Given the description of an element on the screen output the (x, y) to click on. 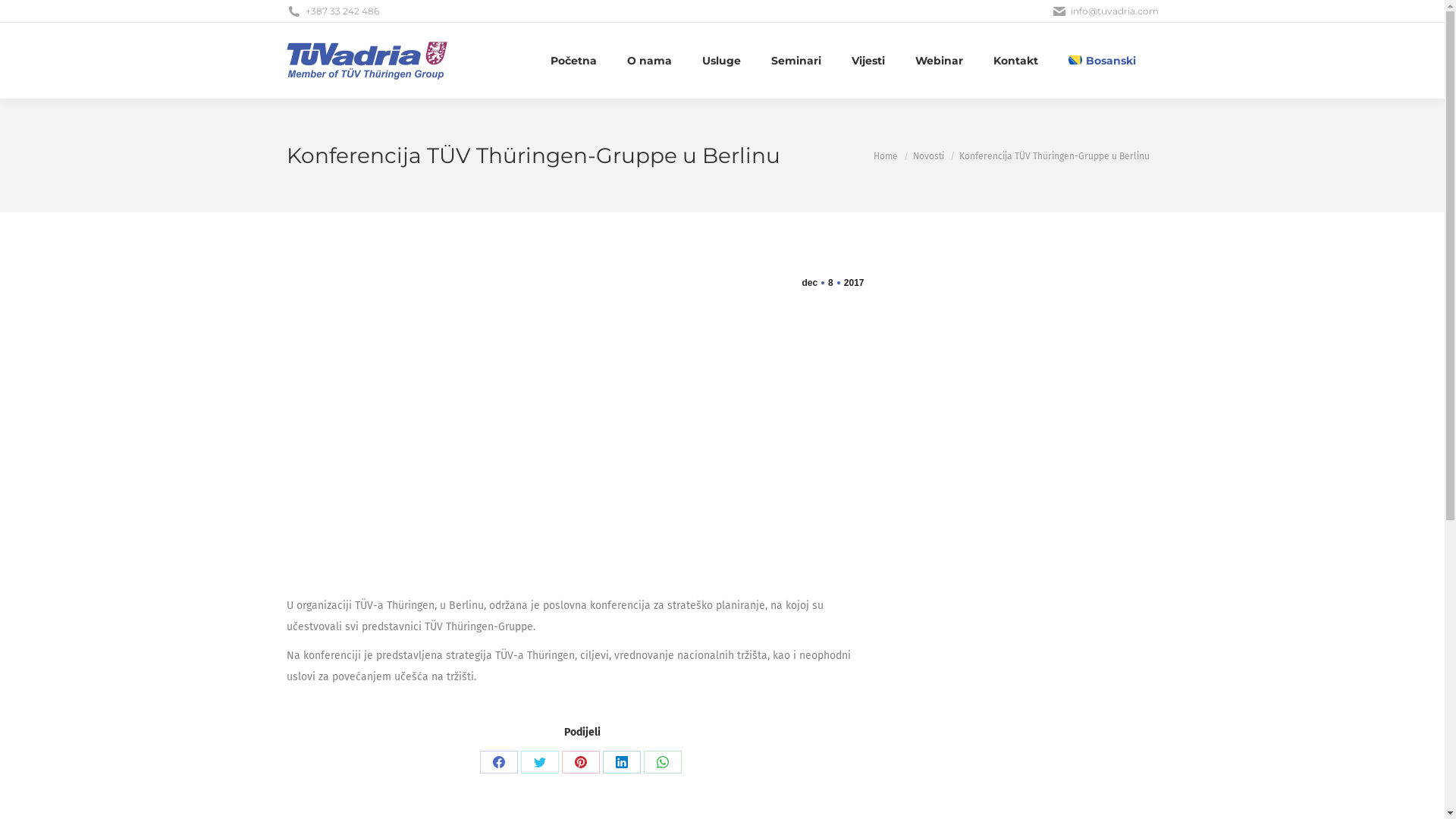
Share on WhatsApp Element type: text (661, 761)
Bosanski Element type: hover (1075, 59)
Share on LinkedIn Element type: text (621, 761)
Share on Facebook Element type: text (498, 761)
Home Element type: text (885, 155)
Go! Element type: text (23, 15)
Novosti Element type: text (928, 155)
Vijesti Element type: text (867, 60)
Kontakt Element type: text (1015, 60)
Webinar Element type: text (939, 60)
O nama Element type: text (649, 60)
Seminari Element type: text (796, 60)
dec
8
2017 Element type: text (831, 282)
Usluge Element type: text (721, 60)
Share on Twitter Element type: text (539, 761)
Share on Pinterest Element type: text (580, 761)
Bosanski Element type: text (1101, 60)
